Given the description of an element on the screen output the (x, y) to click on. 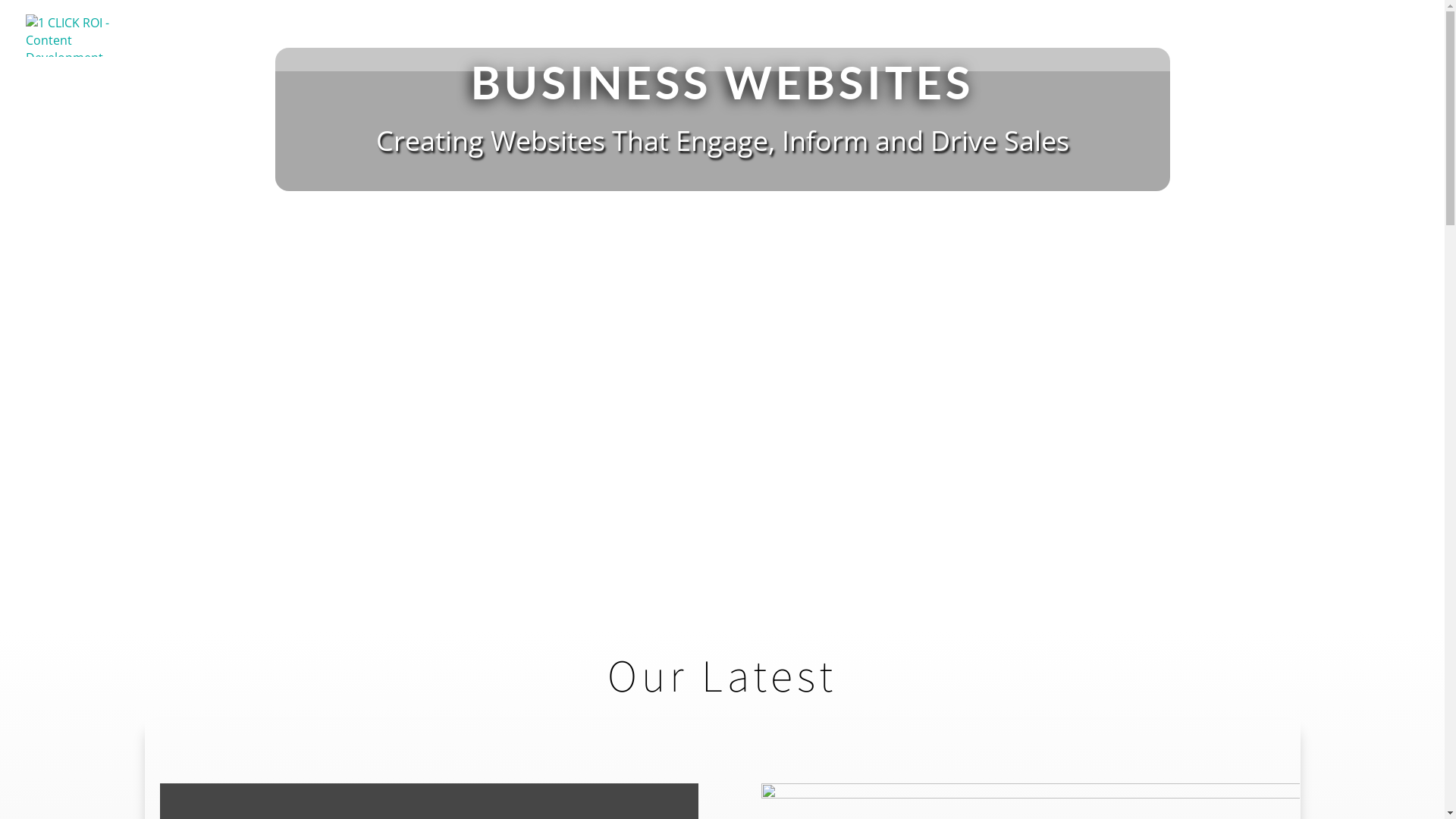
Phone (815) 297-3674 Element type: text (1357, 50)
